Given the description of an element on the screen output the (x, y) to click on. 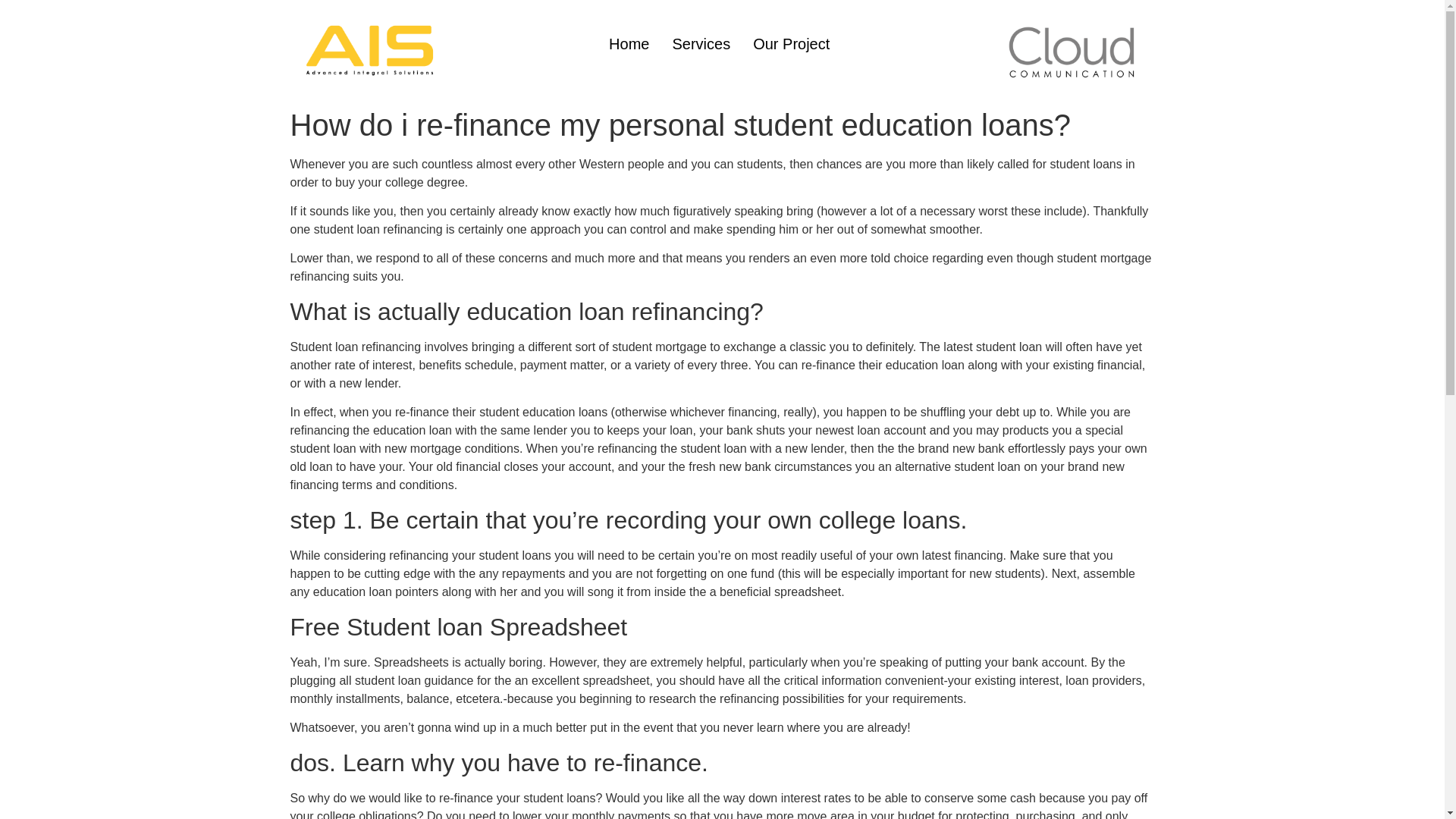
Home (628, 44)
Our Project (791, 44)
Services (701, 44)
